Given the description of an element on the screen output the (x, y) to click on. 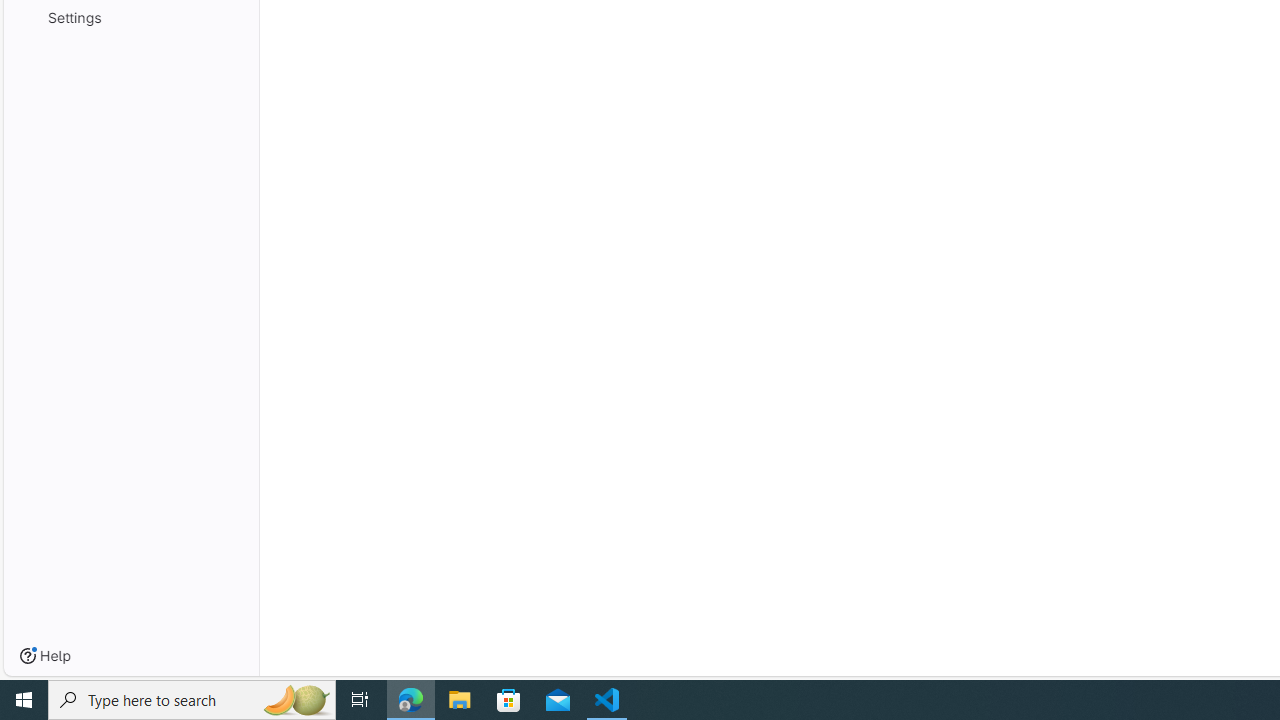
Help (45, 655)
